Given the description of an element on the screen output the (x, y) to click on. 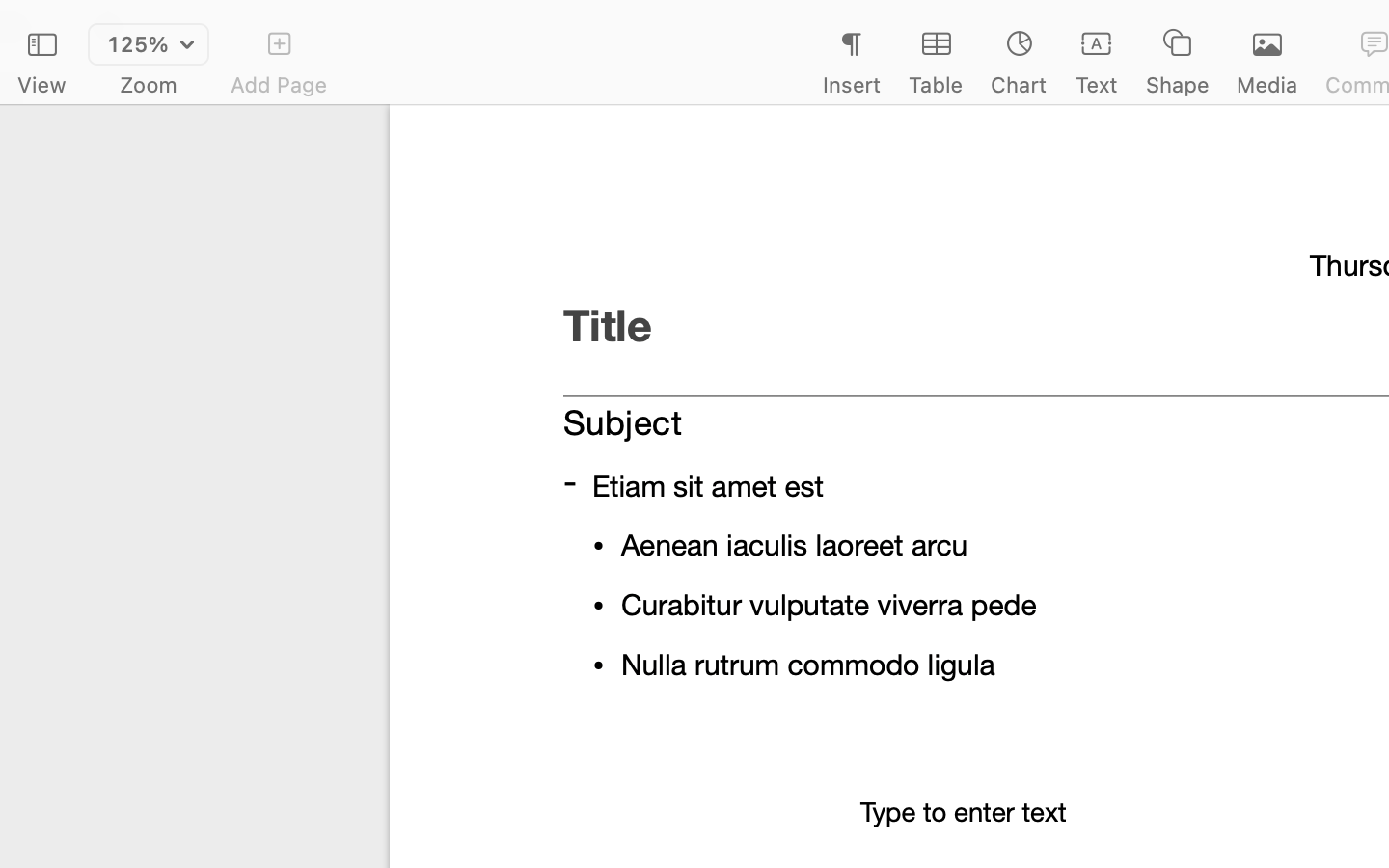
Media Element type: AXStaticText (1267, 84)
Zoom Element type: AXStaticText (148, 84)
Insert Element type: AXStaticText (850, 84)
Untitled Element type: AXStaticText (1334, 24)
